Given the description of an element on the screen output the (x, y) to click on. 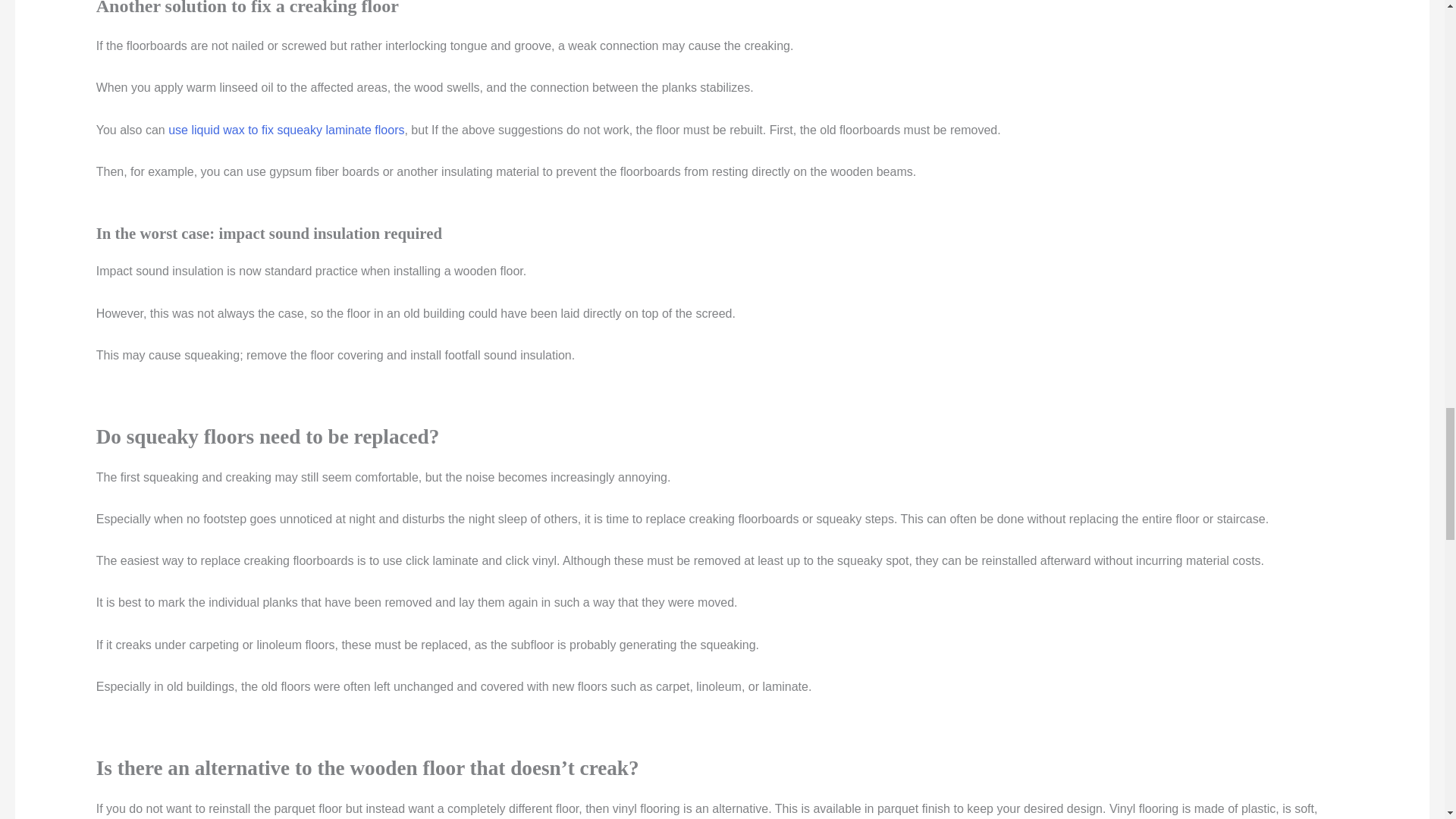
use liquid wax to fix squeaky laminate floors (286, 129)
